Given the description of an element on the screen output the (x, y) to click on. 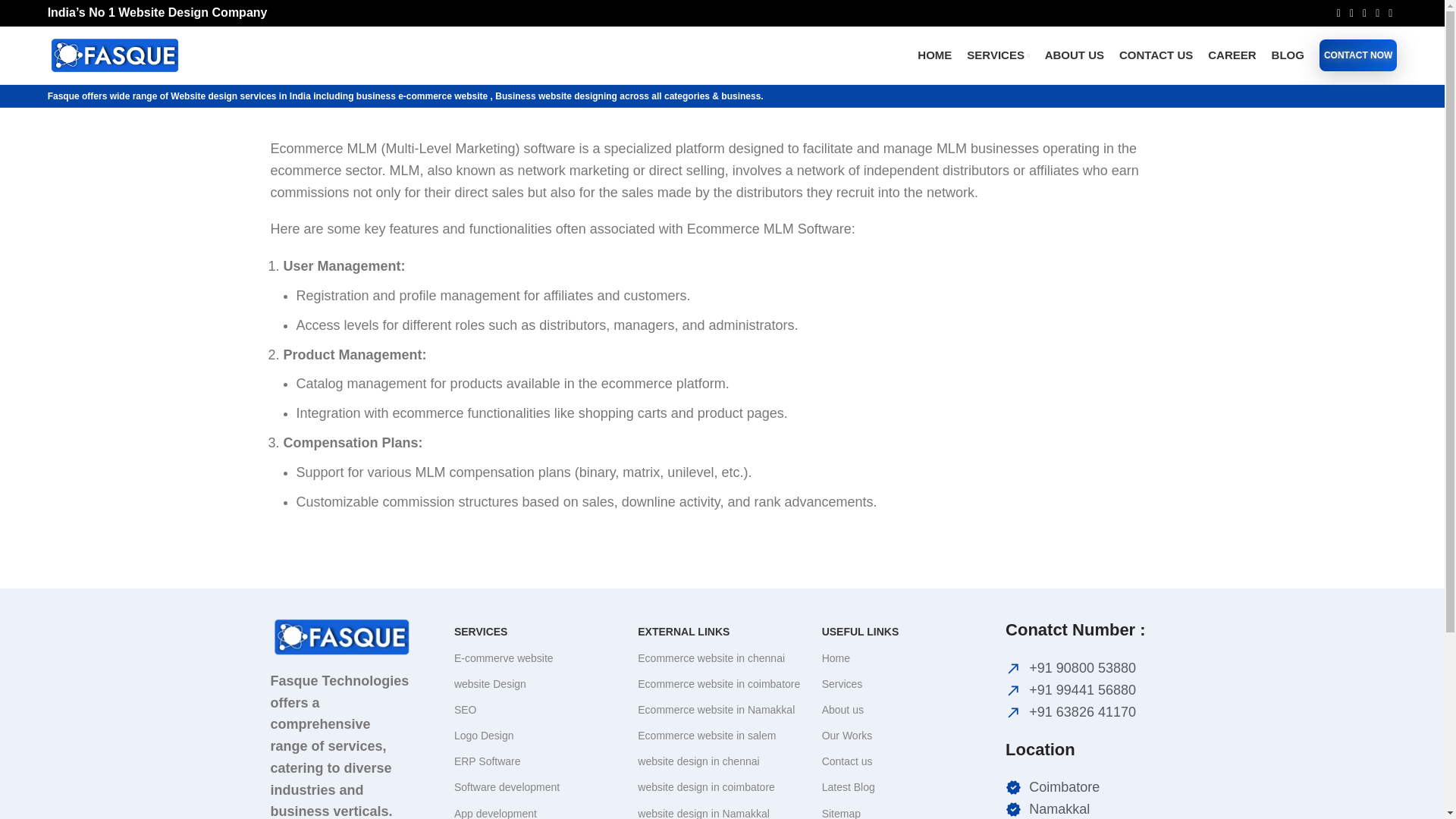
CAREER (1231, 55)
E-commerve website (538, 657)
CONTACT US (1155, 55)
BLOG (1287, 55)
ABOUT US (1074, 55)
CONTACT NOW (1358, 55)
CONTACT NOW (1357, 55)
HOME (934, 55)
SERVICES (997, 55)
SERVICES (538, 631)
website Design (538, 683)
